Given the description of an element on the screen output the (x, y) to click on. 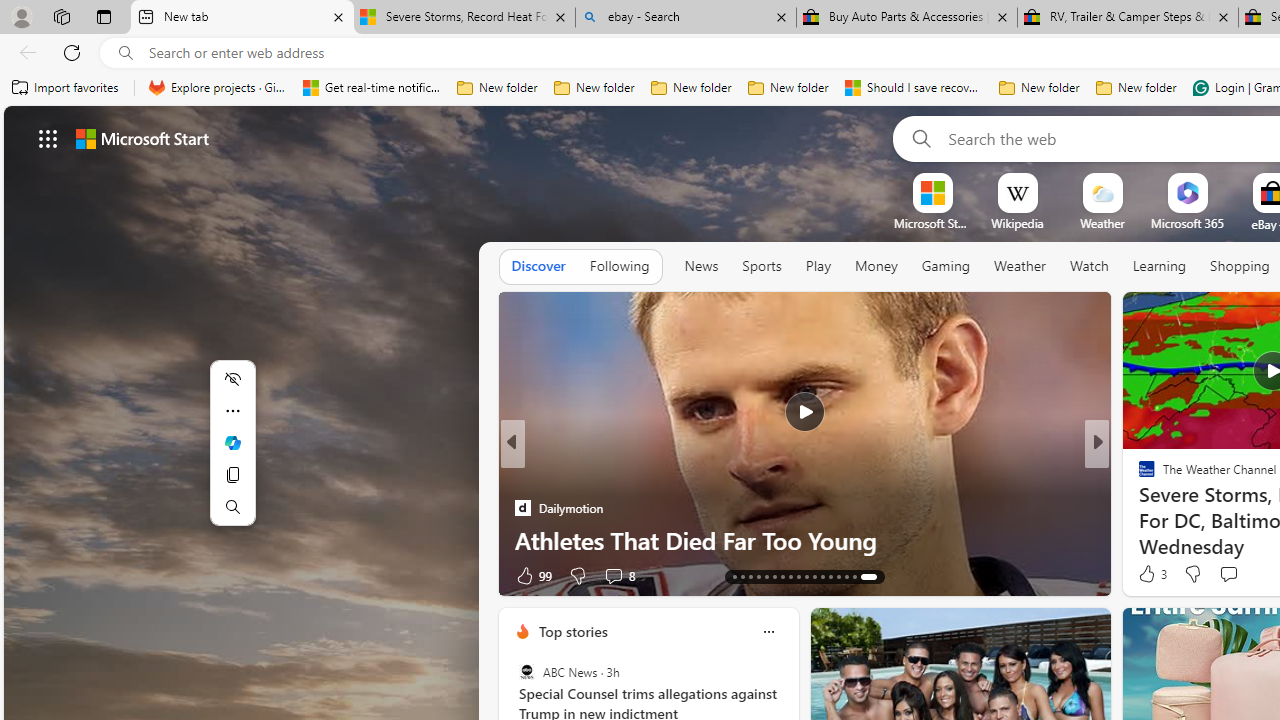
New folder (1136, 88)
AutomationID: tab-28 (865, 576)
RV, Trailer & Camper Steps & Ladders for sale | eBay (1127, 17)
Microsoft start (142, 138)
To get missing image descriptions, open the context menu. (932, 192)
AutomationID: tab-16 (769, 576)
Learning (1159, 267)
View comments 96 Comment (1244, 574)
GB News (1138, 475)
